Given the description of an element on the screen output the (x, y) to click on. 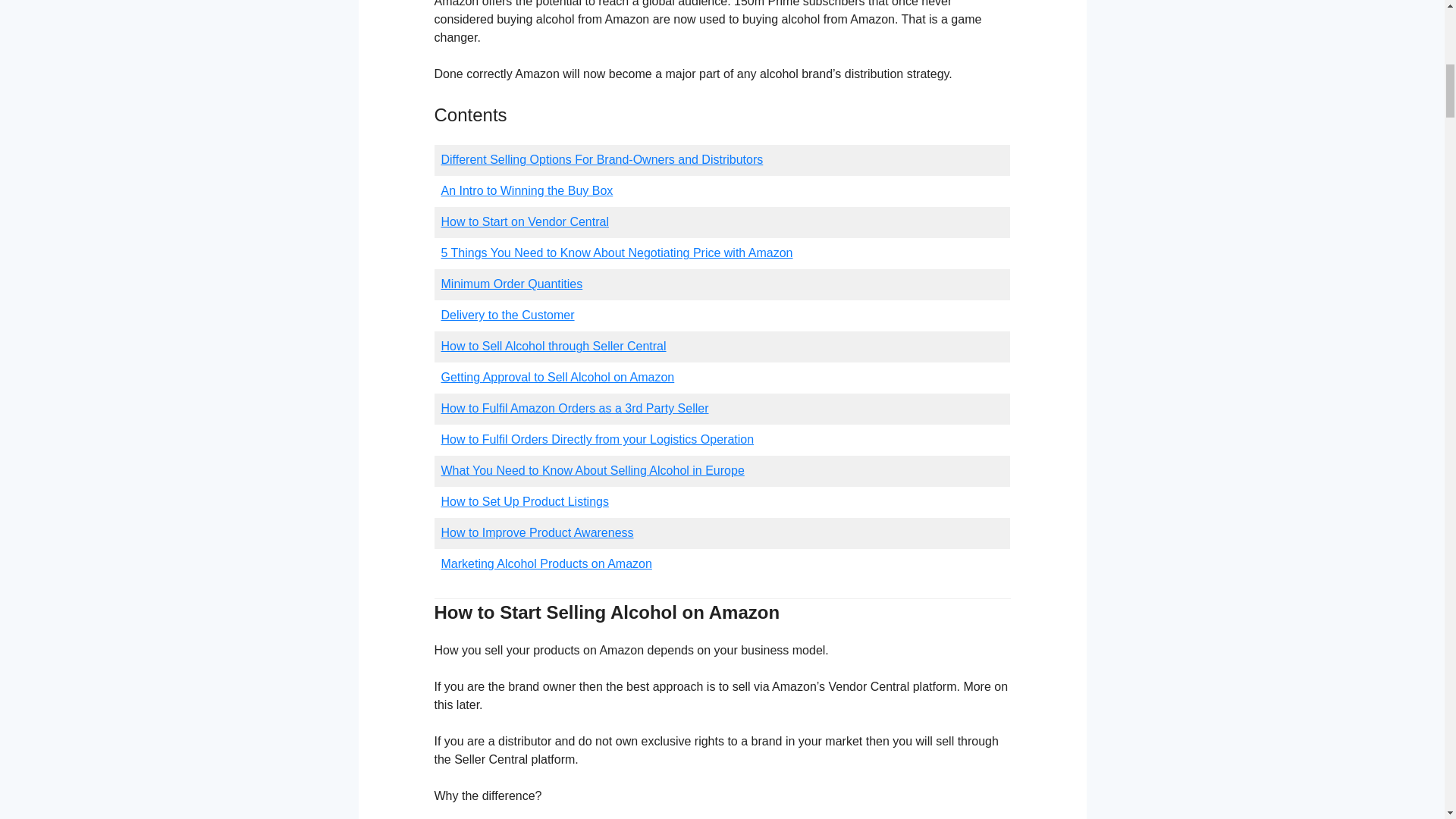
Different Selling Options For Brand-Owners and Distributors (601, 159)
